Given the description of an element on the screen output the (x, y) to click on. 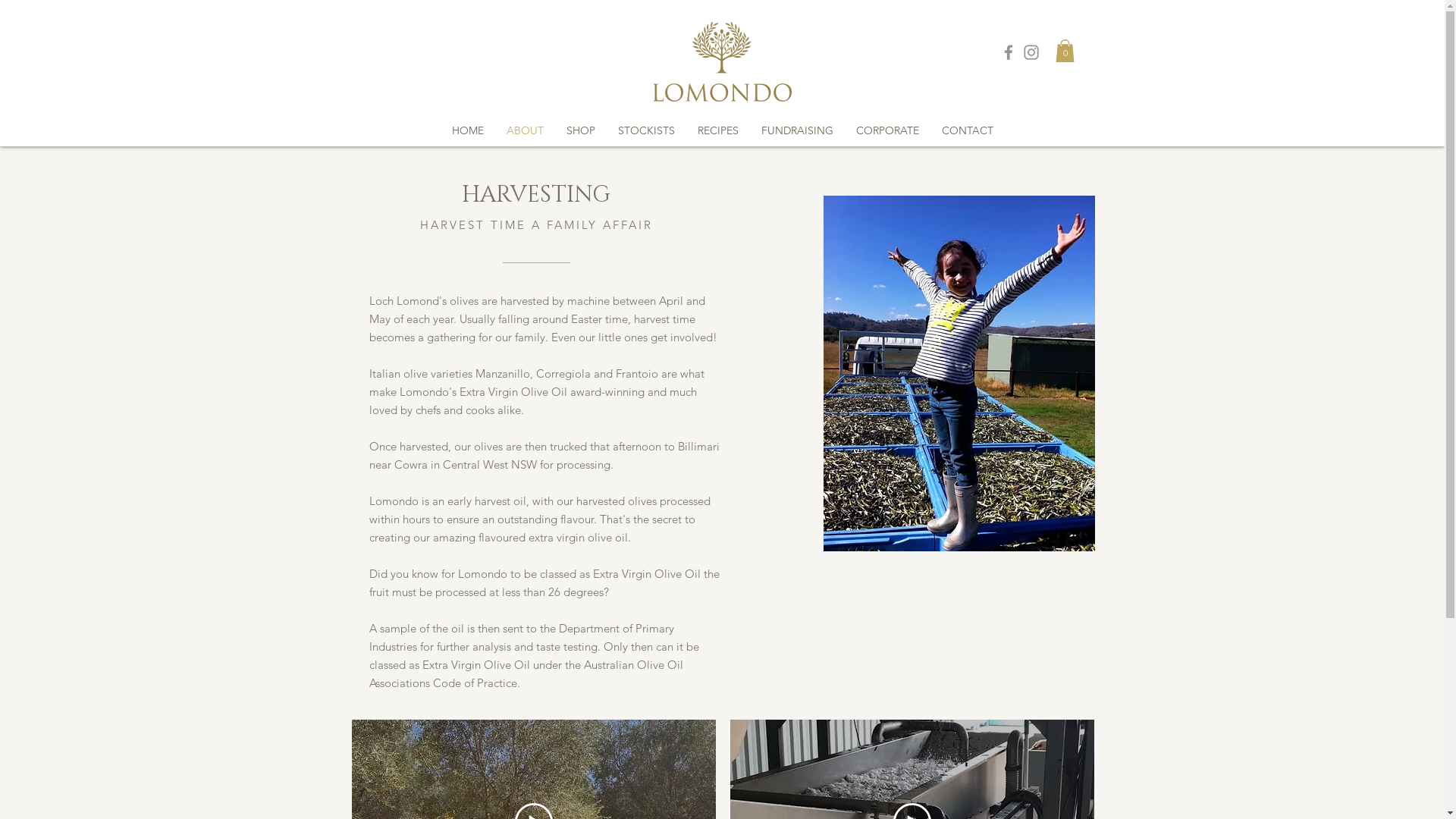
CONTACT Element type: text (966, 130)
RECIPES Element type: text (717, 130)
0 Element type: text (1064, 50)
STOCKISTS Element type: text (646, 130)
SHOP Element type: text (580, 130)
HOME Element type: text (466, 130)
CORPORATE Element type: text (887, 130)
ABOUT Element type: text (524, 130)
FUNDRAISING Element type: text (796, 130)
